Given the description of an element on the screen output the (x, y) to click on. 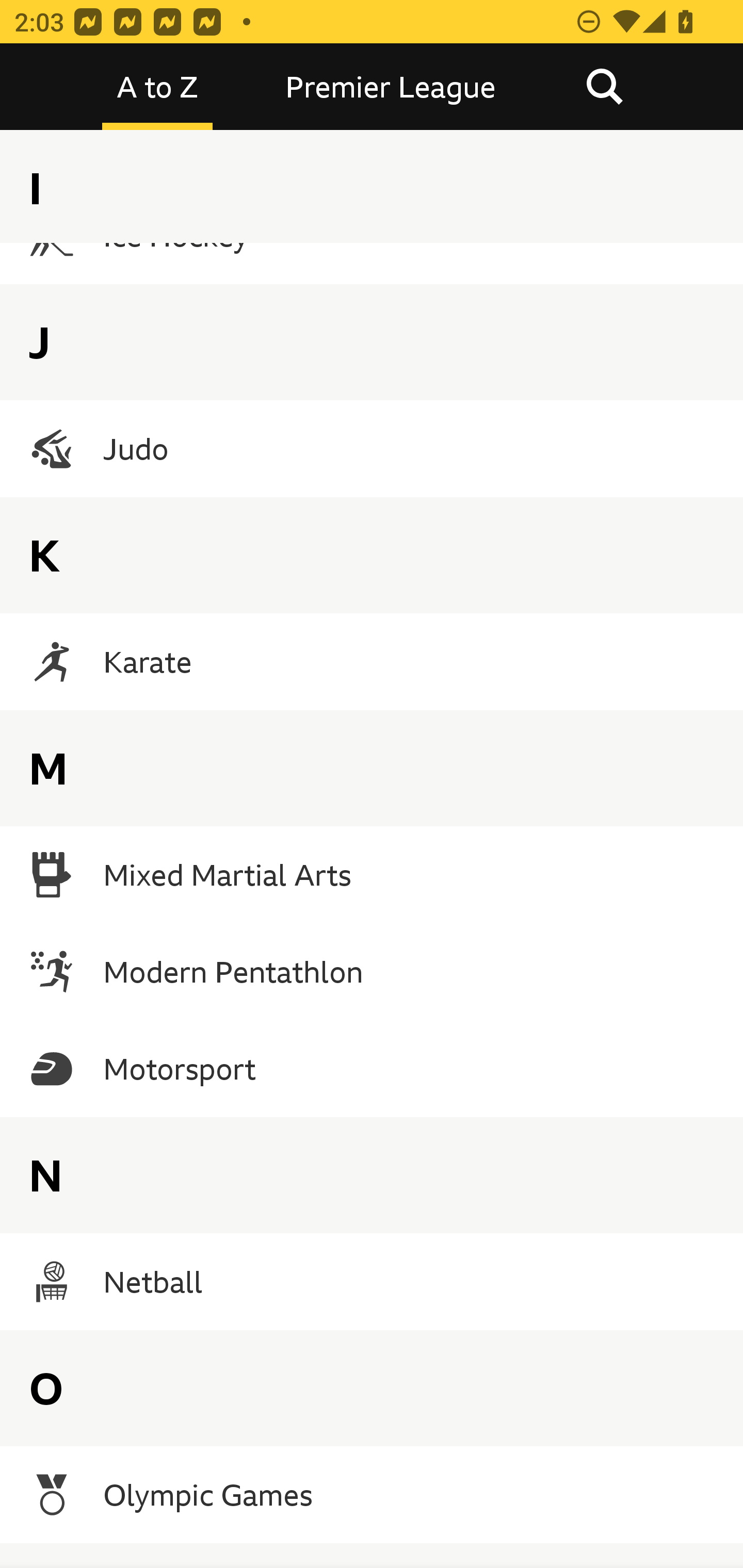
Premier League (390, 86)
Search (604, 86)
Judo (371, 448)
Karate (371, 661)
Mixed Martial Arts (371, 874)
Modern Pentathlon (371, 971)
Motorsport (371, 1068)
Netball (371, 1281)
Olympic Games (371, 1493)
